Given the description of an element on the screen output the (x, y) to click on. 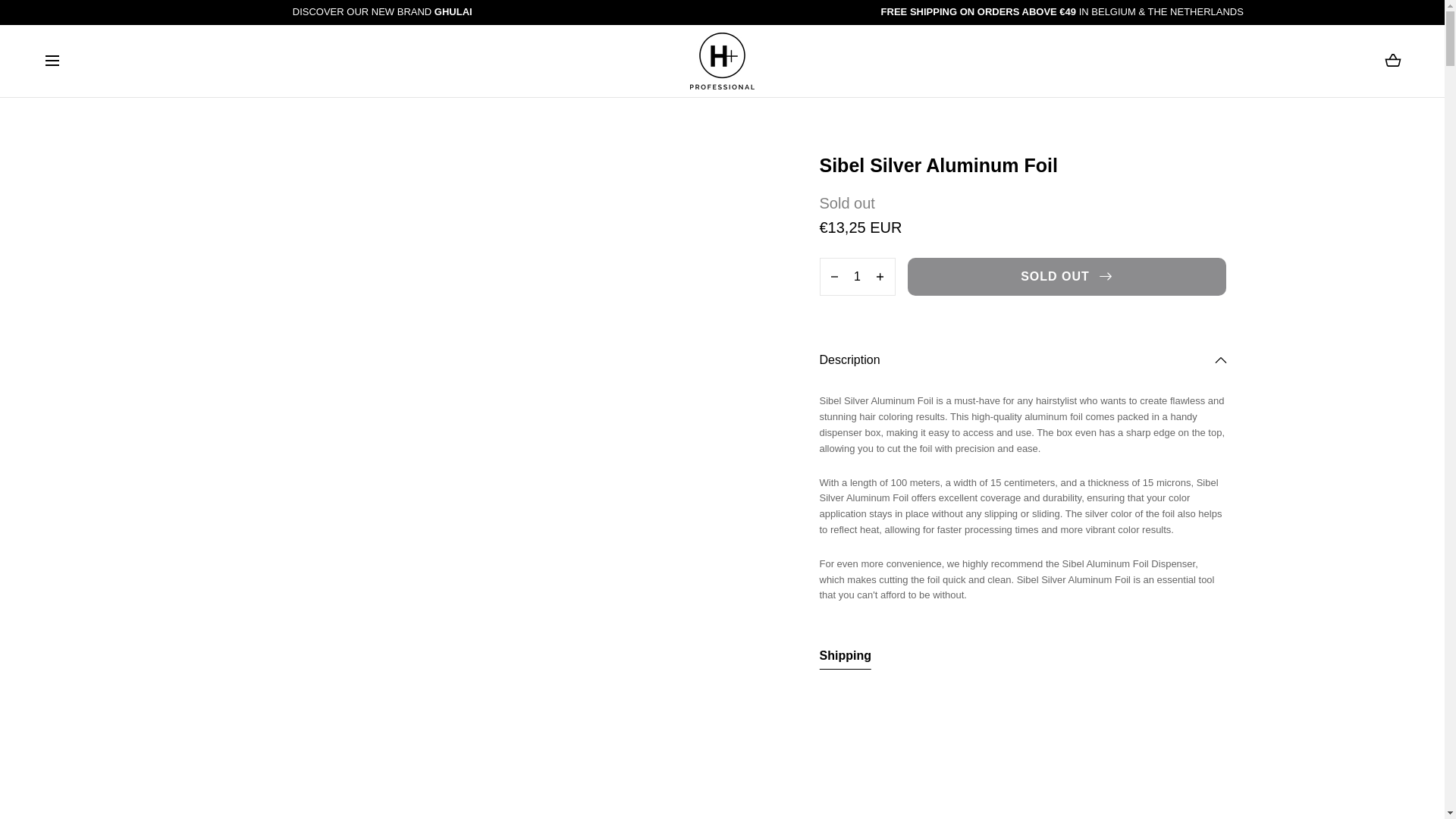
SKIP TO CONTENT (80, 18)
SOLD OUT (1393, 60)
1 (1066, 276)
Shipping (856, 276)
Decrease quantity for Sibel Silver Aluminum Foil (844, 657)
Increase quantity for Sibel Silver Aluminum Foil (833, 276)
